Given the description of an element on the screen output the (x, y) to click on. 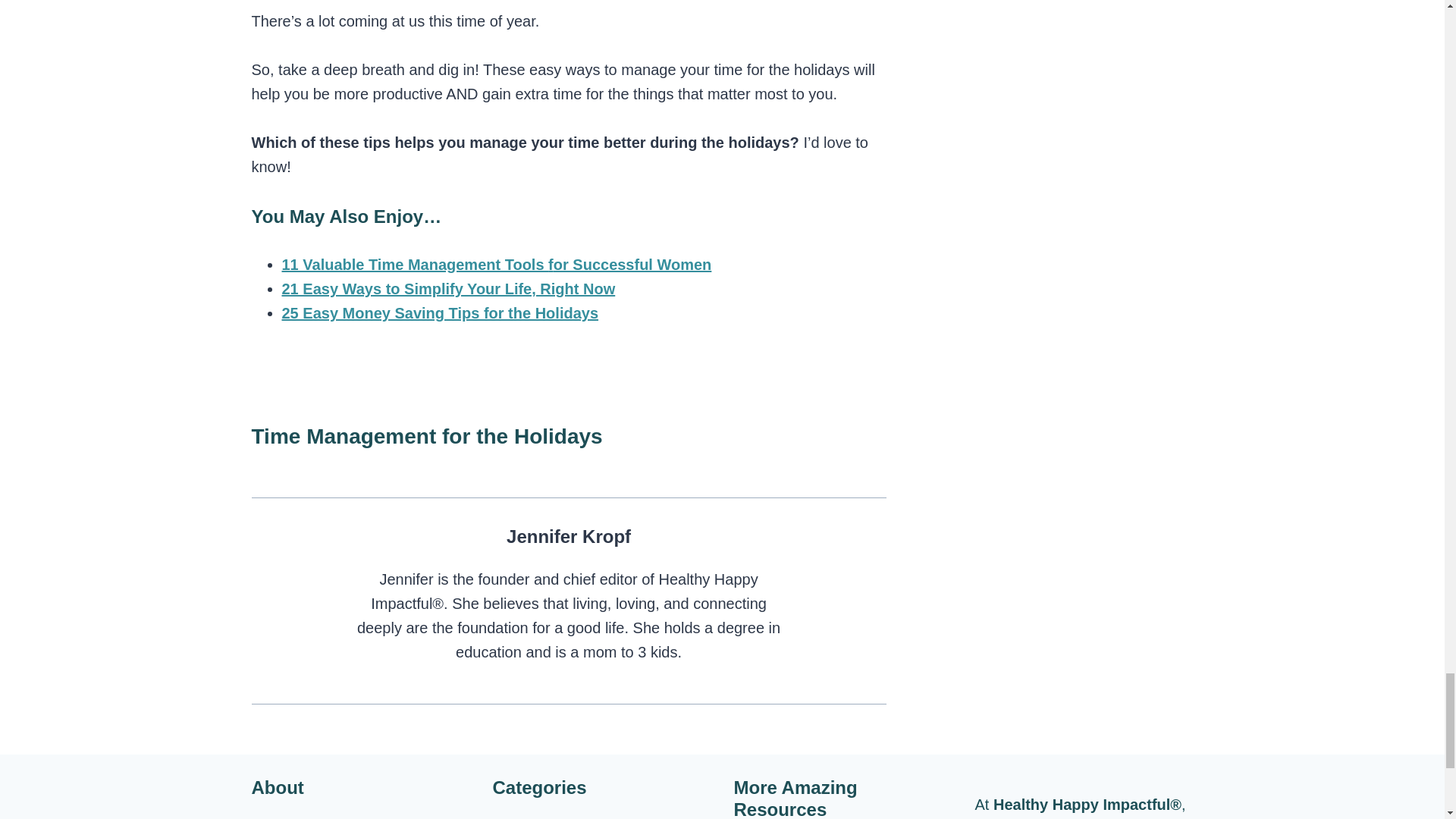
Posts by Jennifer Kropf (568, 536)
